Given the description of an element on the screen output the (x, y) to click on. 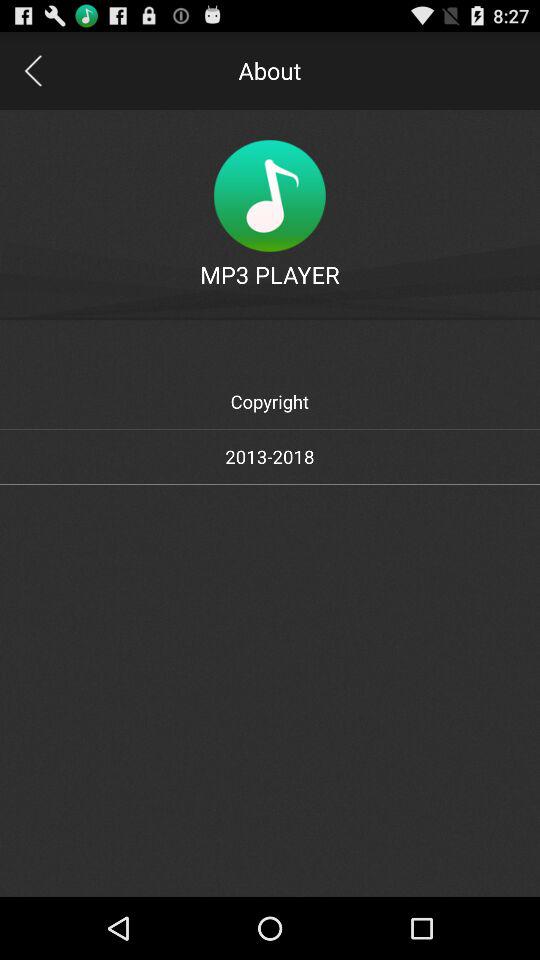
click arrow to go to previous page or screen (32, 70)
